Given the description of an element on the screen output the (x, y) to click on. 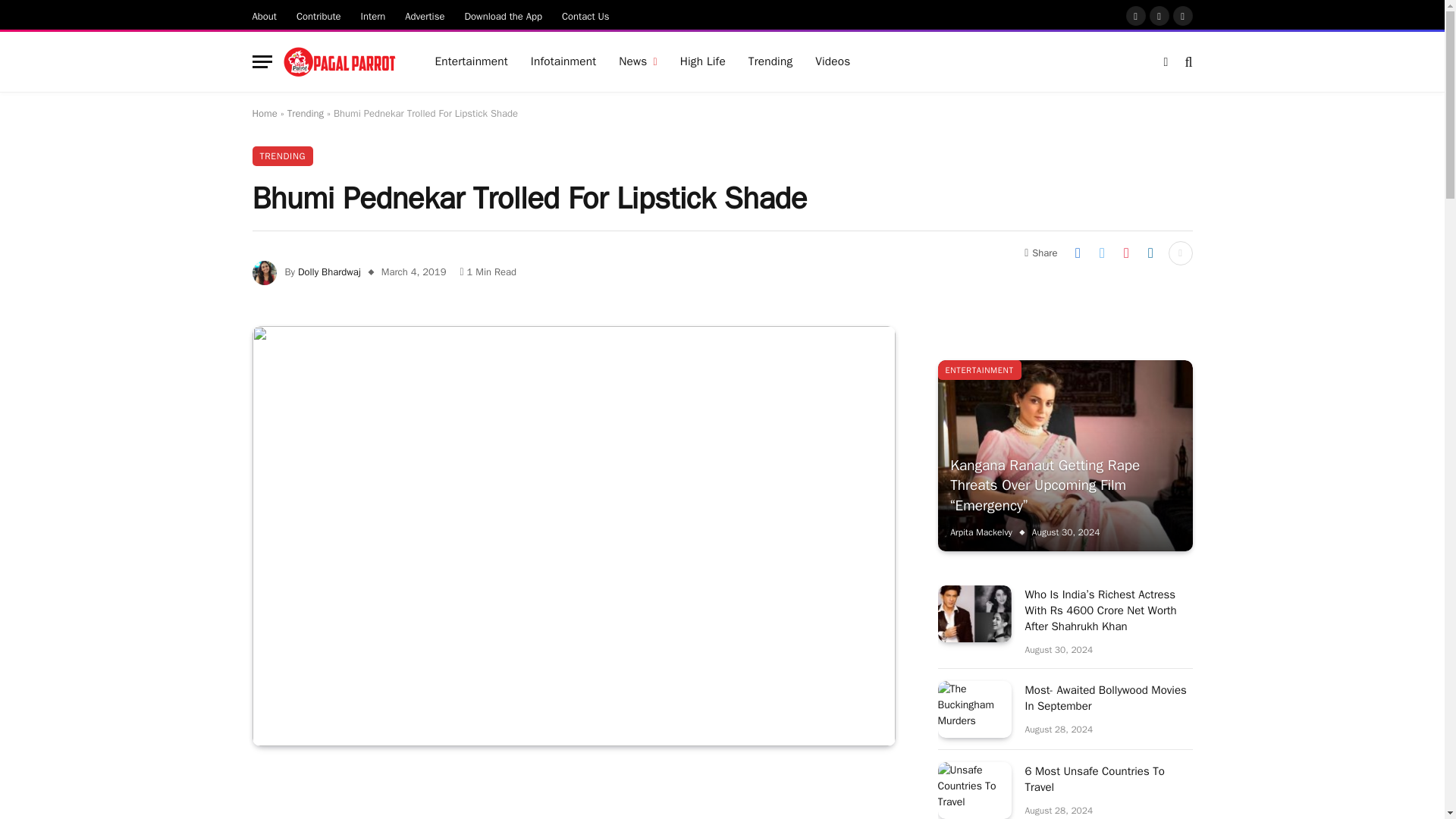
PagalParrot (340, 62)
About (264, 15)
Intern (373, 15)
Contact Us (585, 15)
Contribute (318, 15)
Download the App (503, 15)
Advertise (424, 15)
